Given the description of an element on the screen output the (x, y) to click on. 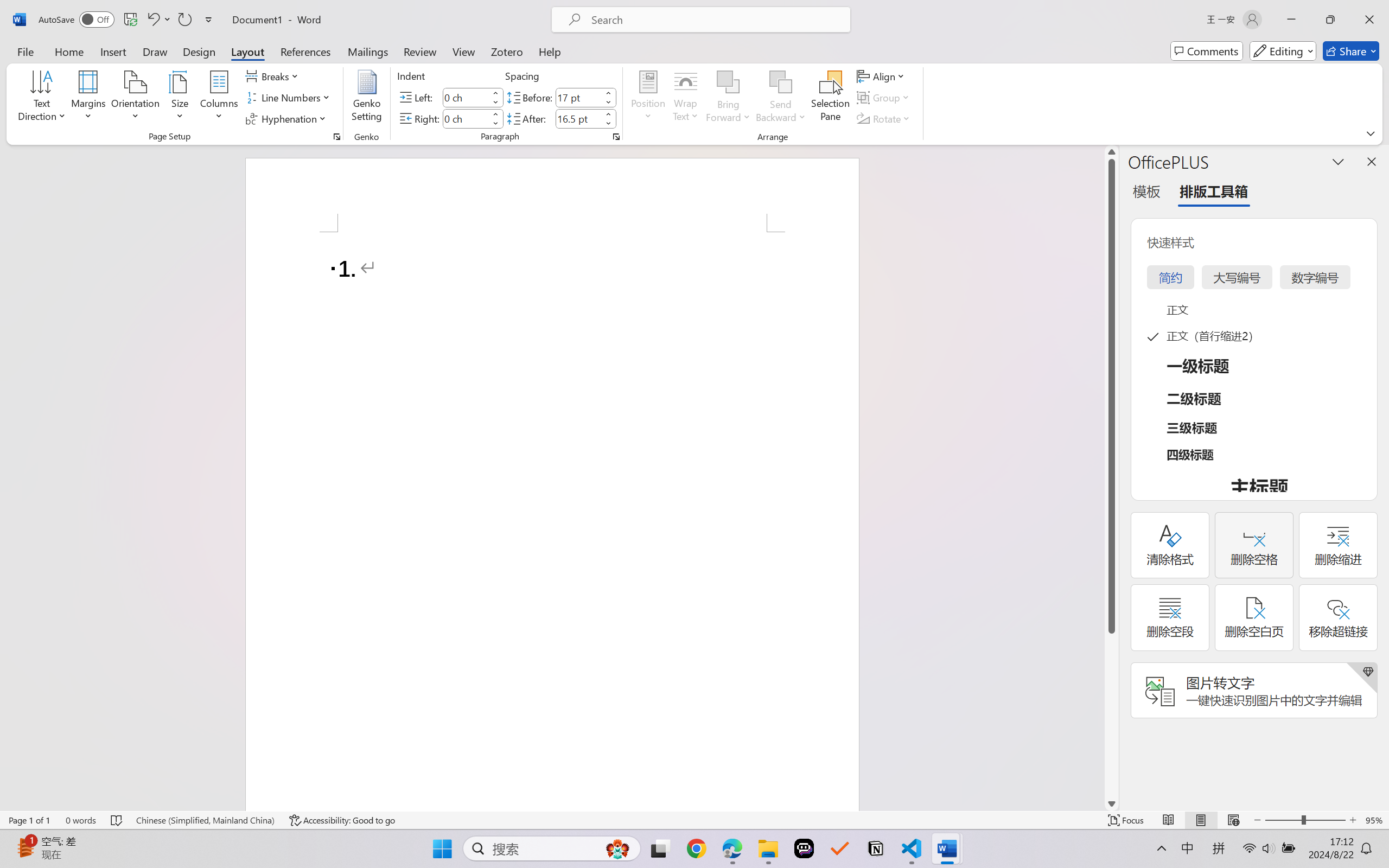
Size (180, 97)
Rotate (884, 118)
Spacing Before (578, 96)
Undo Number Default (158, 19)
